Given the description of an element on the screen output the (x, y) to click on. 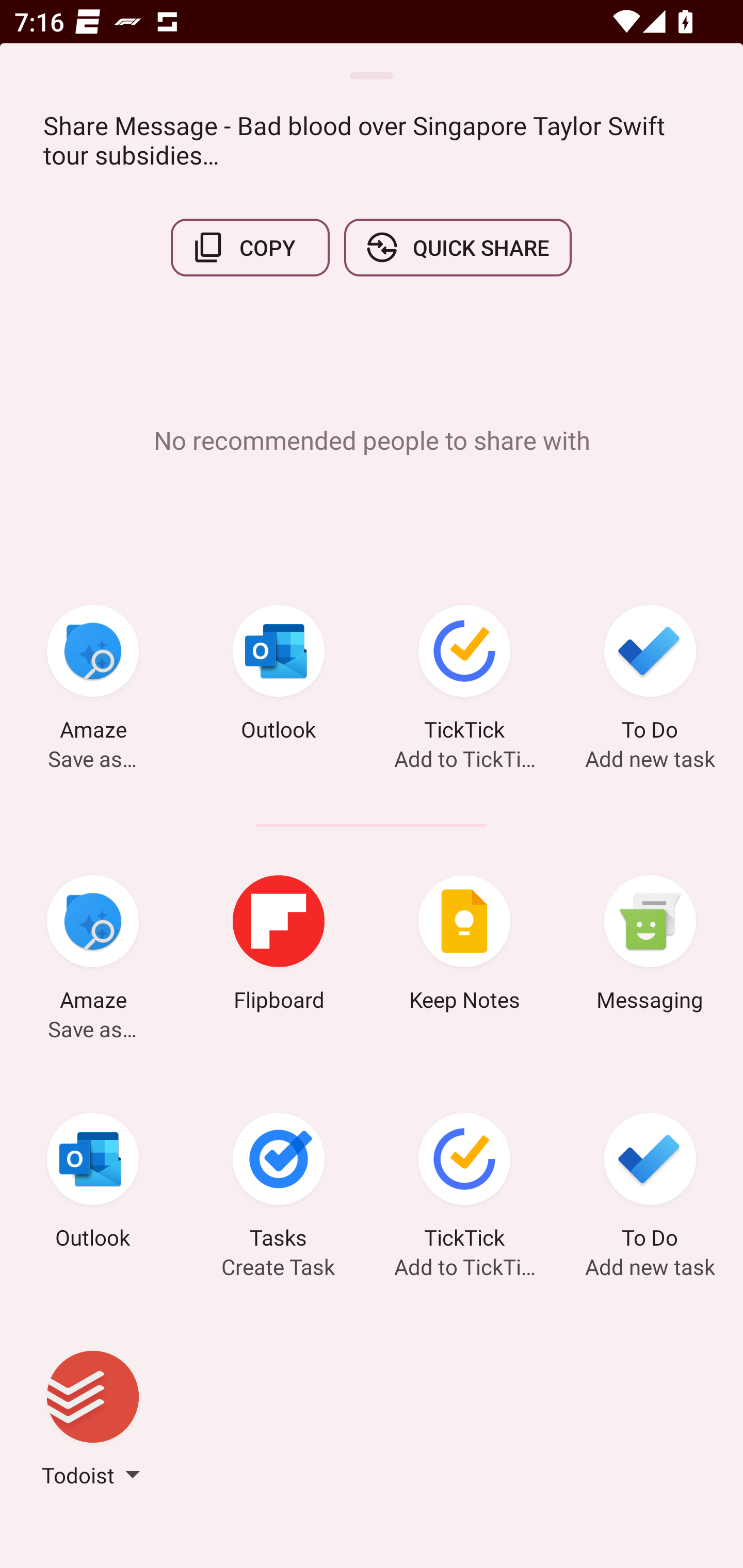
COPY (249, 247)
QUICK SHARE (457, 247)
Amaze Save as… (92, 675)
Outlook (278, 675)
TickTick Add to TickTick (464, 675)
To Do Add new task (650, 675)
Amaze Save as… (92, 945)
Flipboard (278, 945)
Keep Notes (464, 945)
Messaging (650, 945)
Outlook (92, 1183)
Tasks Create Task (278, 1183)
TickTick Add to TickTick (464, 1183)
To Do Add new task (650, 1183)
Todoist (92, 1422)
